Given the description of an element on the screen output the (x, y) to click on. 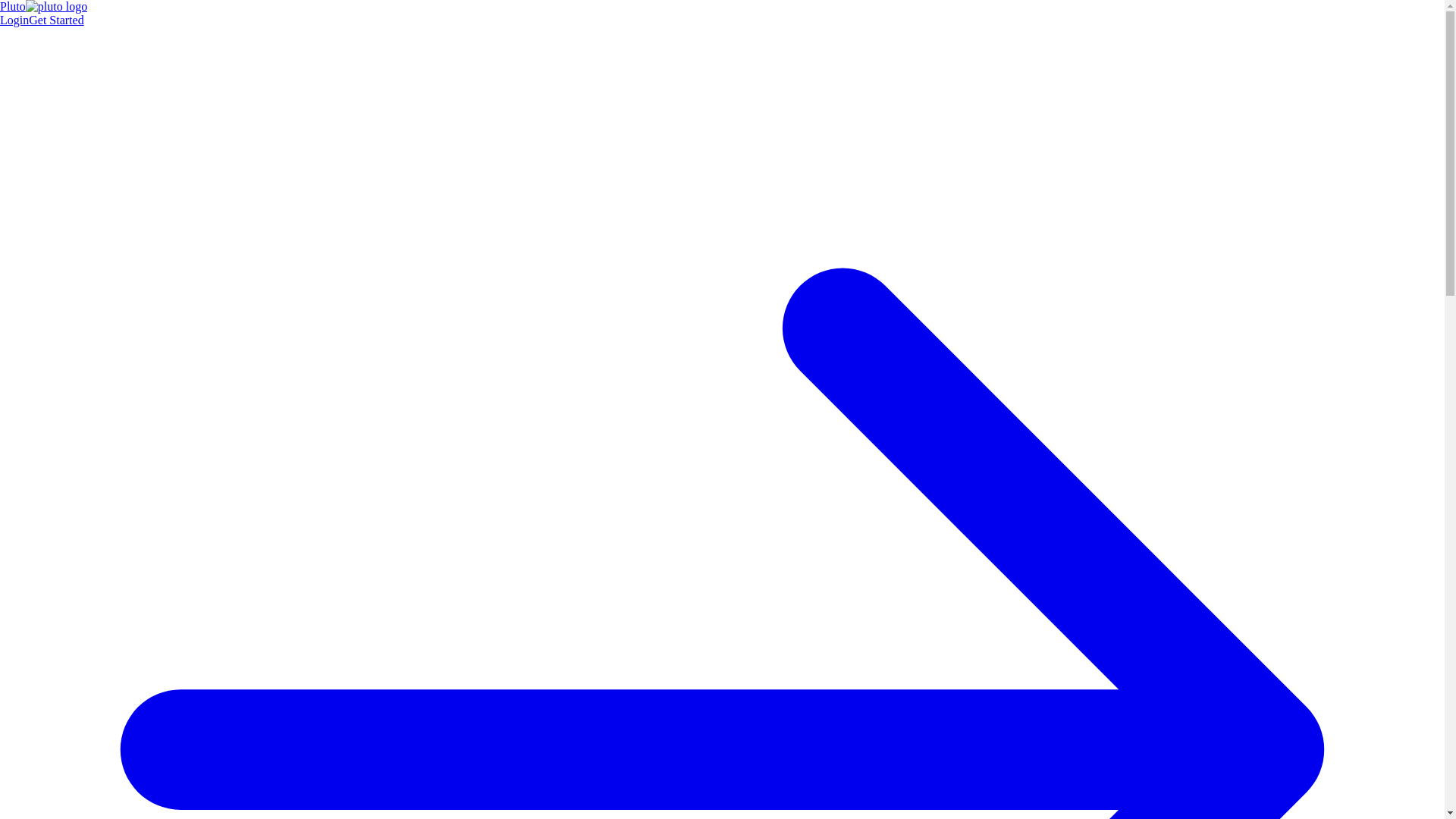
Login (14, 19)
